Given the description of an element on the screen output the (x, y) to click on. 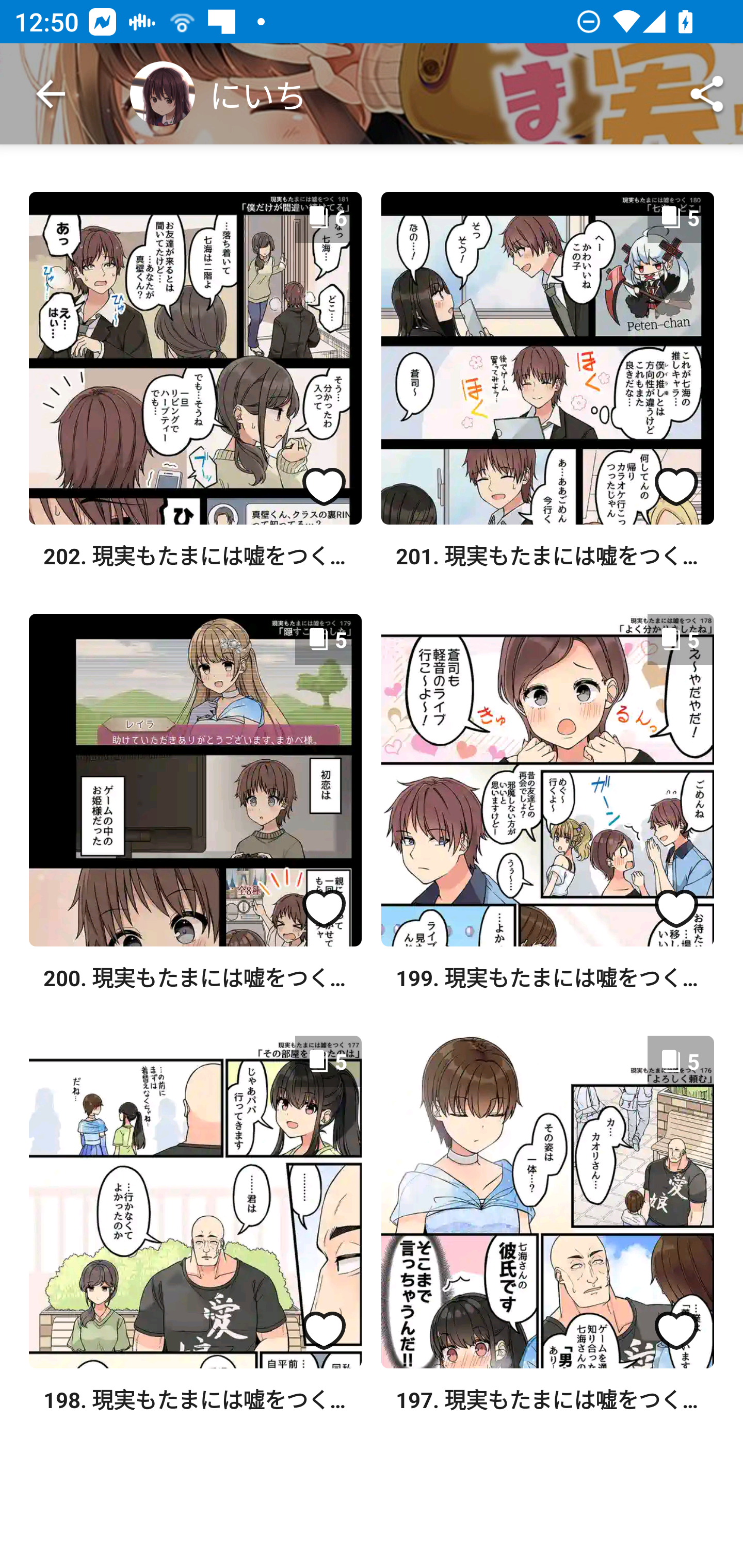
Navigate up (50, 93)
Share (706, 93)
にいち (218, 94)
6 (194, 358)
5 (547, 358)
5 (194, 780)
5 (547, 780)
5 (194, 1202)
5 (547, 1202)
